Given the description of an element on the screen output the (x, y) to click on. 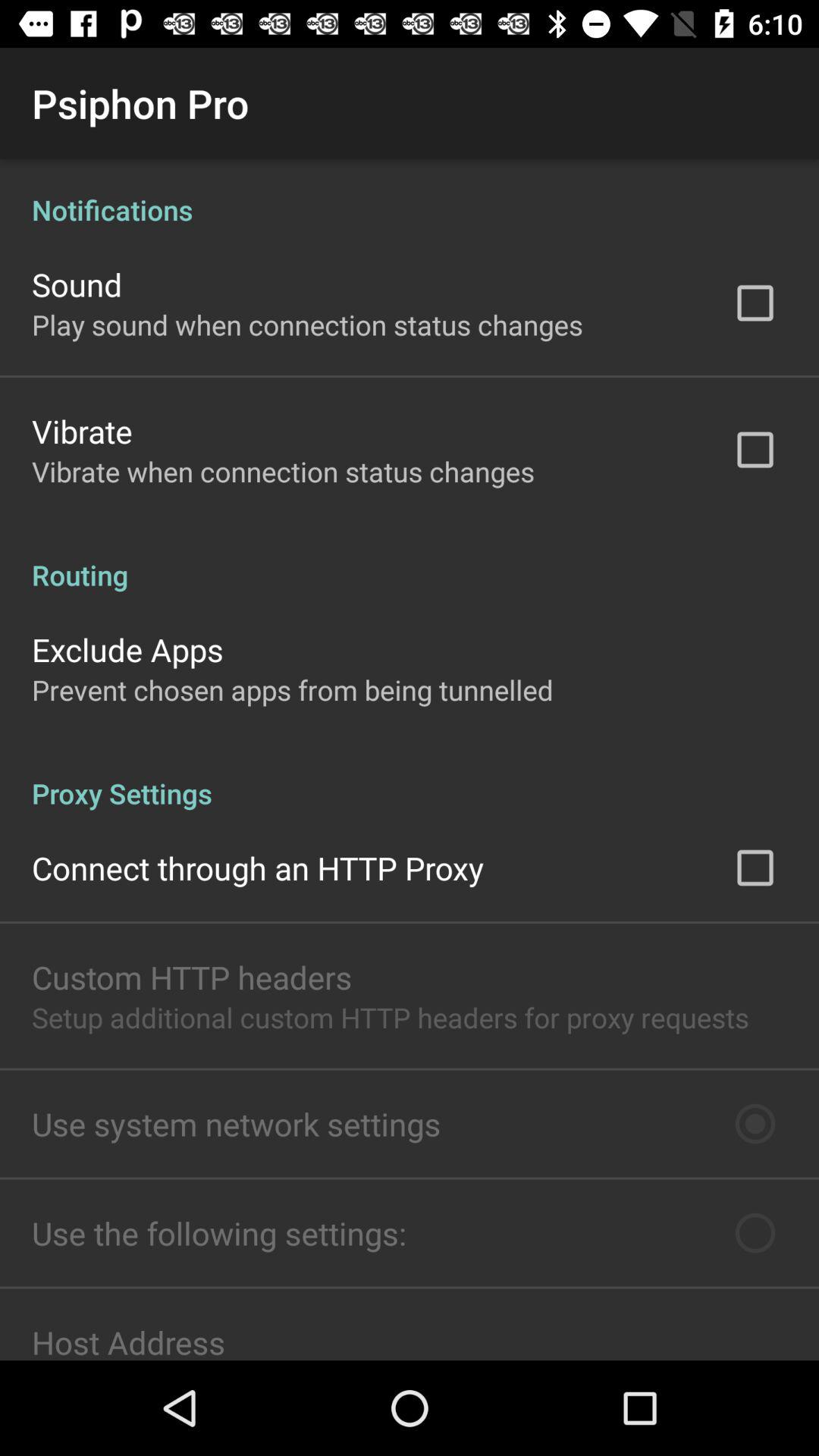
choose icon above exclude apps icon (409, 558)
